Given the description of an element on the screen output the (x, y) to click on. 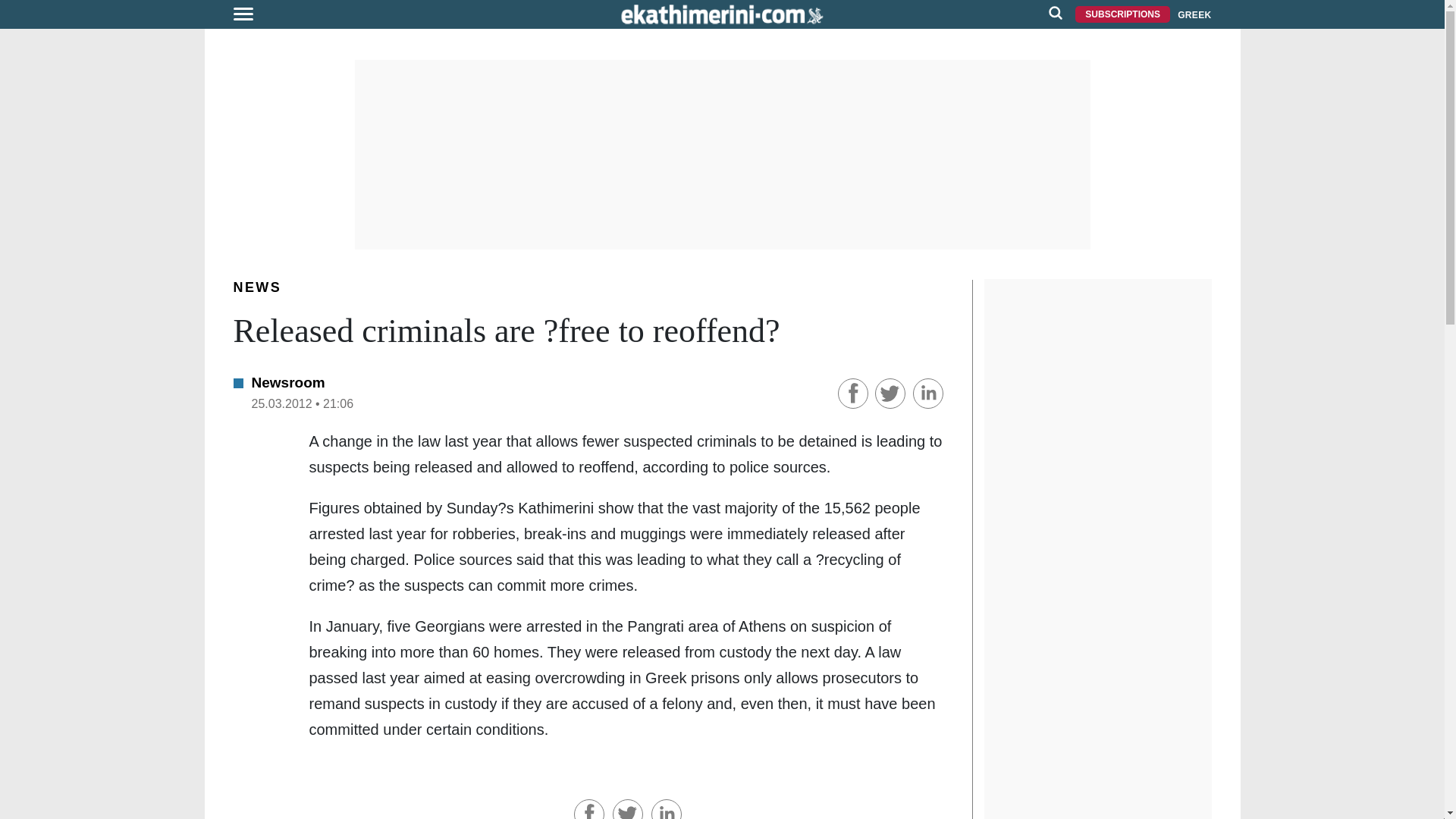
View all posts by Newsroom (287, 382)
